Given the description of an element on the screen output the (x, y) to click on. 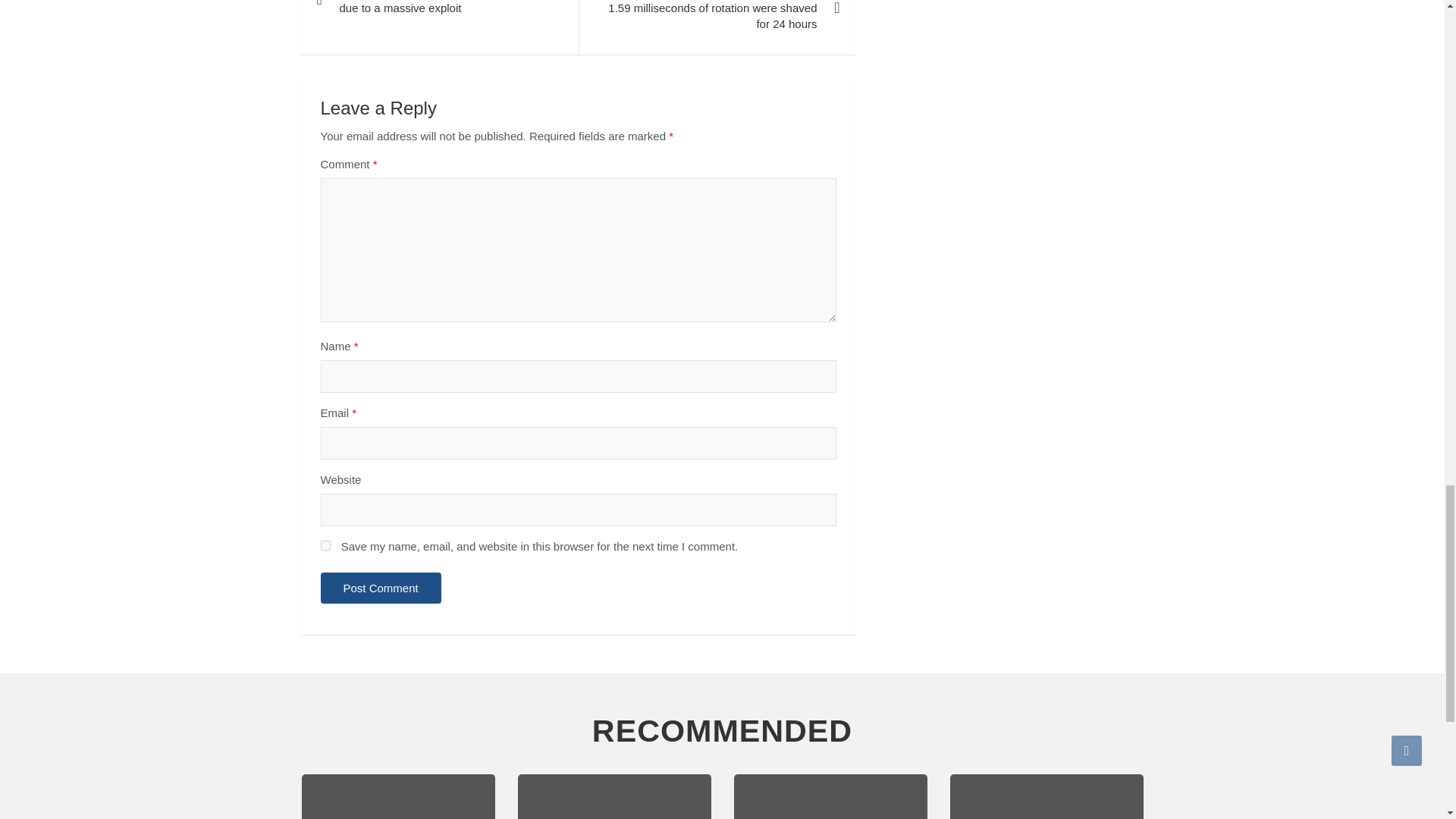
Post Comment (380, 587)
Post Comment (380, 587)
yes (325, 545)
